Given the description of an element on the screen output the (x, y) to click on. 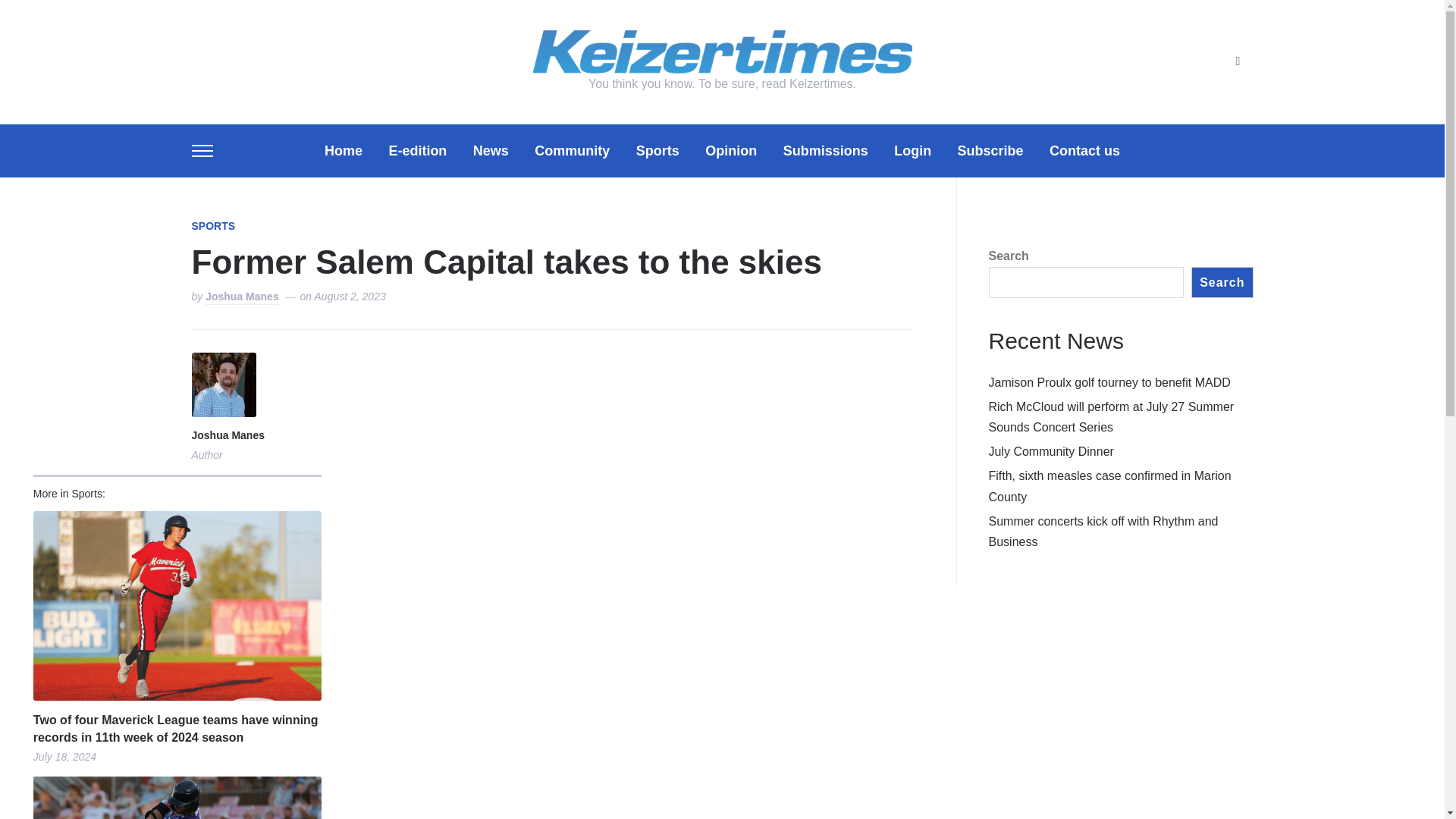
E-edition (417, 150)
Submissions (825, 150)
Community (572, 150)
Joshua Manes (241, 297)
Sports (657, 150)
Home (343, 150)
Posts by Joshua Manes (226, 436)
Opinion (730, 150)
Posts by Joshua Manes (241, 297)
SPORTS (212, 226)
News (490, 150)
Subscribe (990, 150)
